Given the description of an element on the screen output the (x, y) to click on. 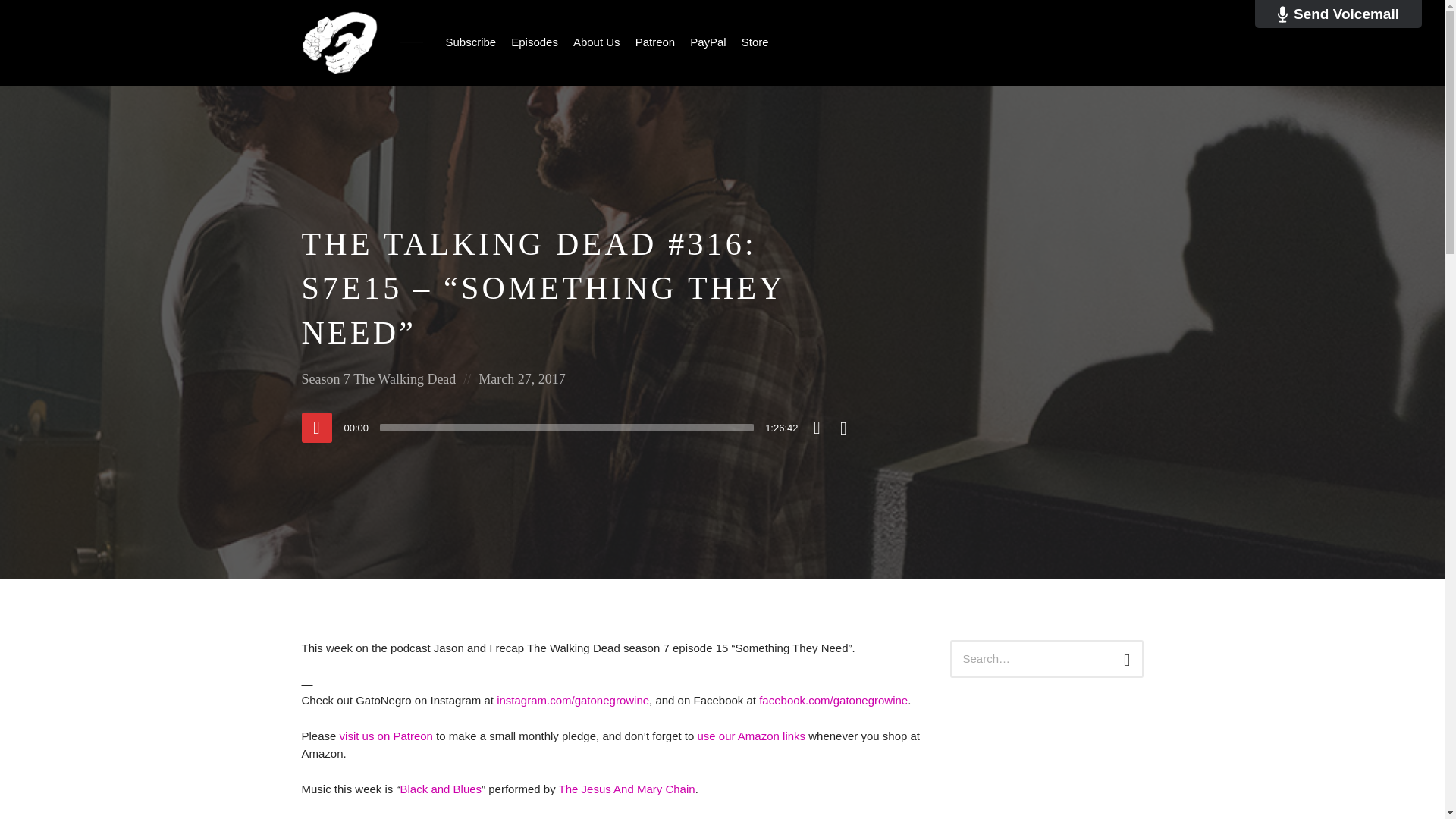
Play (316, 427)
Subscribe (470, 42)
The Talking Dead on Patreon (385, 735)
Episodes (534, 42)
